Given the description of an element on the screen output the (x, y) to click on. 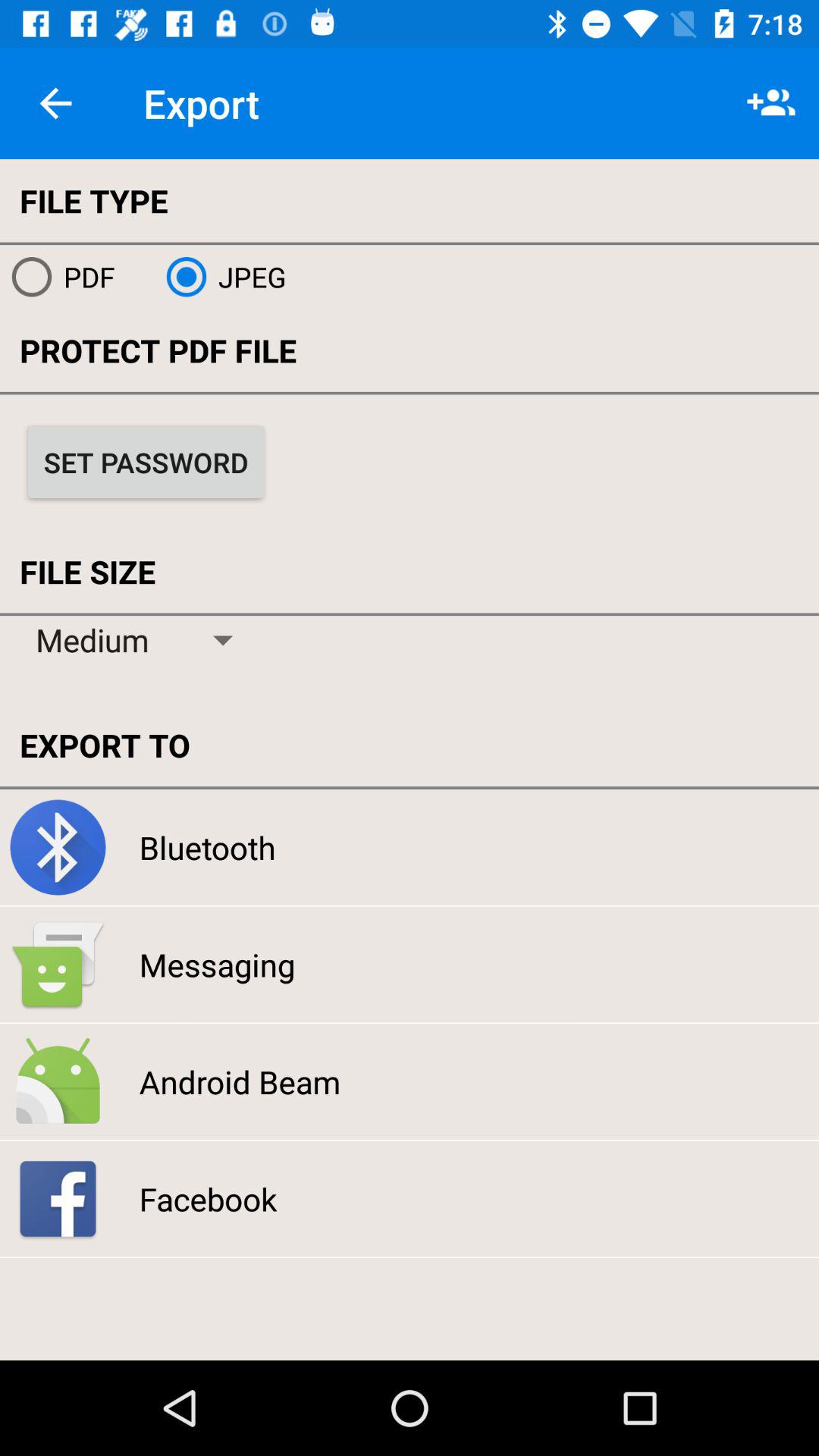
flip until the facebook (207, 1198)
